Given the description of an element on the screen output the (x, y) to click on. 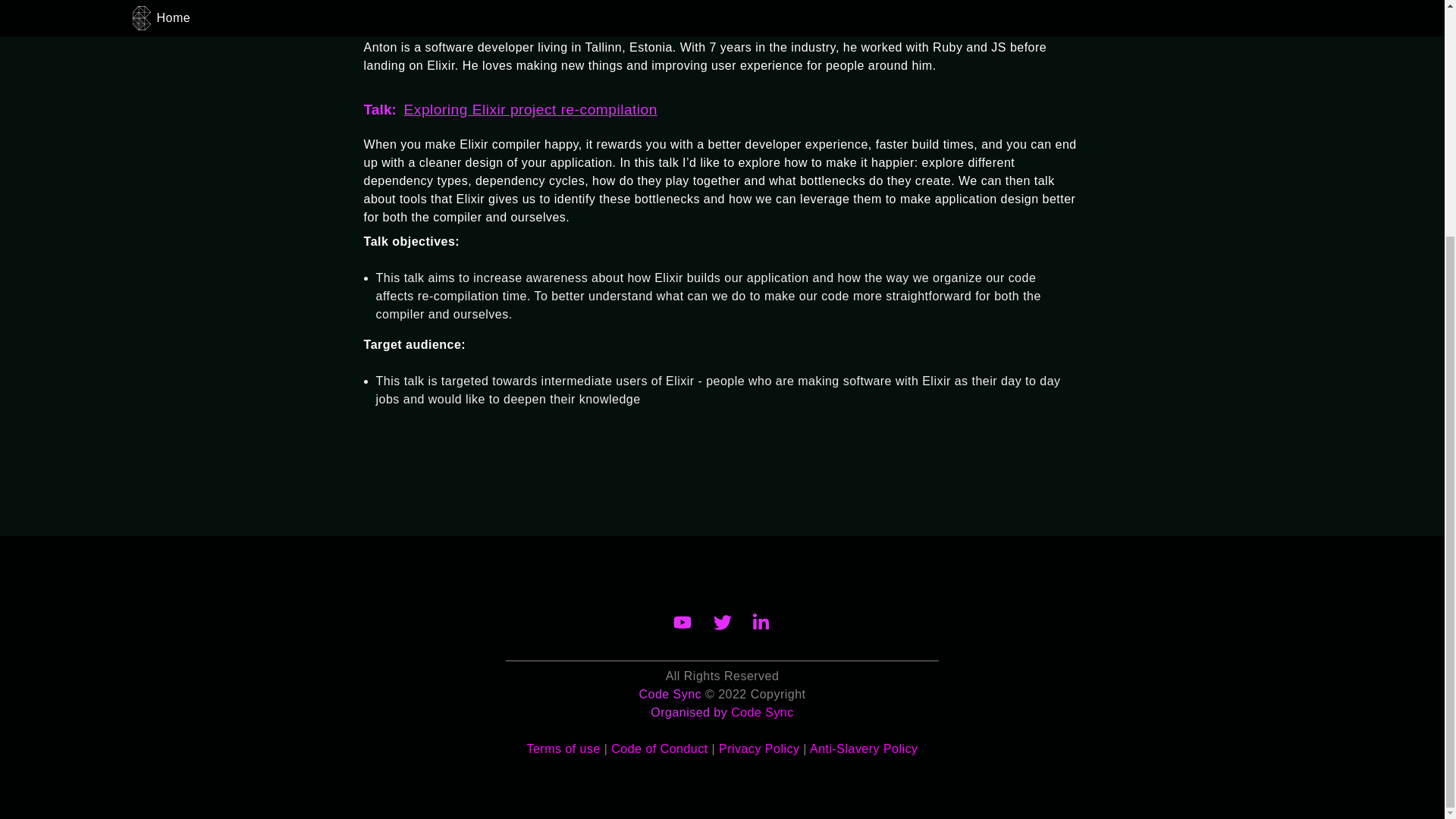
Exploring Elixir project re-compilation (531, 110)
Code Sync (761, 712)
Anti-Slavery Policy (863, 748)
Code of Conduct (659, 748)
Terms of use (562, 748)
Privacy Policy (759, 748)
